Given the description of an element on the screen output the (x, y) to click on. 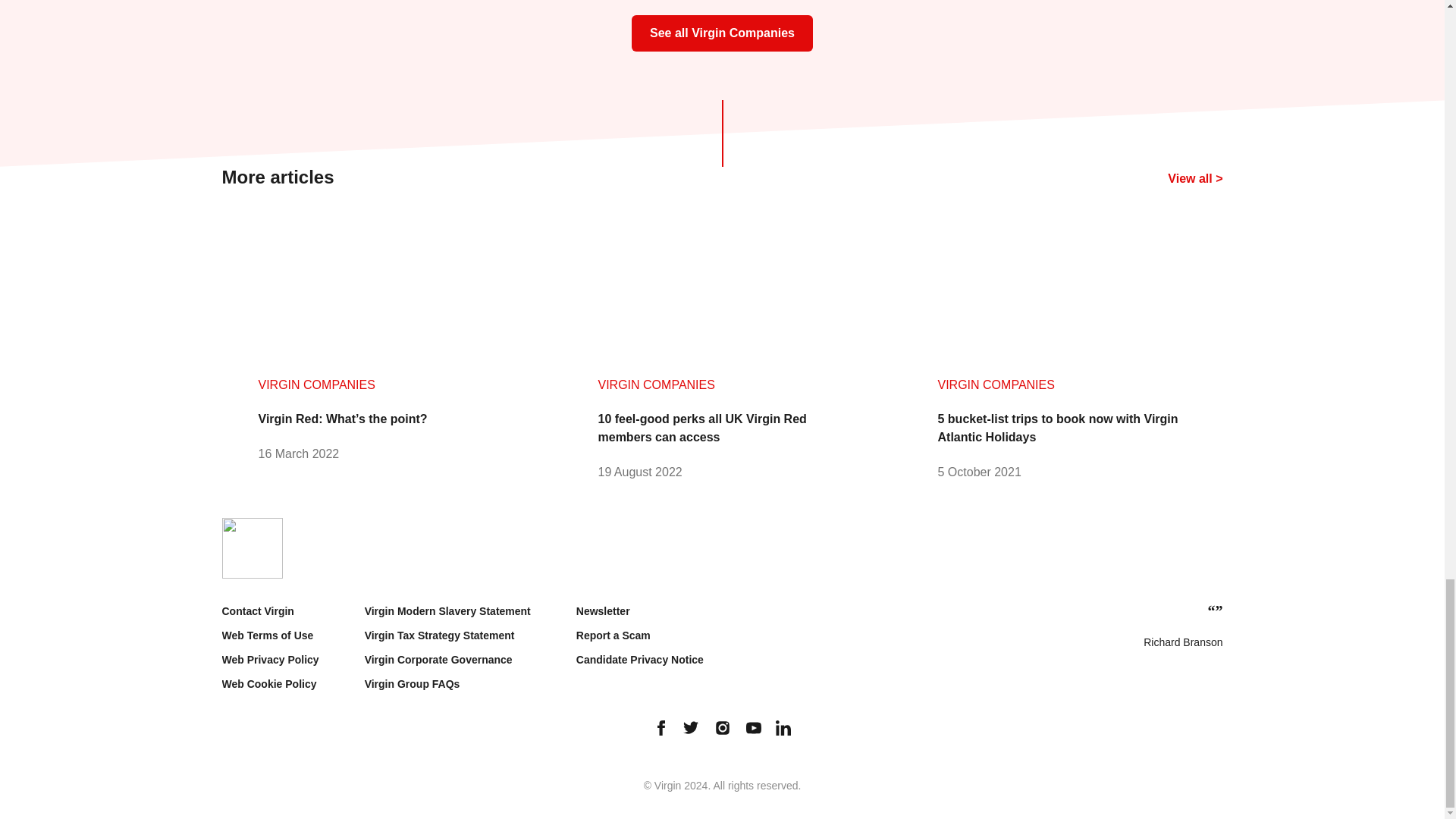
Candidate Privacy Notice (639, 659)
Report a Scam (613, 635)
Web Cookie Policy (268, 684)
Contact Virgin (257, 611)
Virgin Group FAQs (412, 684)
Newsletter (603, 611)
Web Terms of Use (267, 635)
Virgin Modern Slavery Statement (448, 611)
See all Virgin Companies (721, 32)
Web Privacy Policy (269, 659)
Virgin Corporate Governance (438, 659)
Virgin Tax Strategy Statement (440, 635)
